Given the description of an element on the screen output the (x, y) to click on. 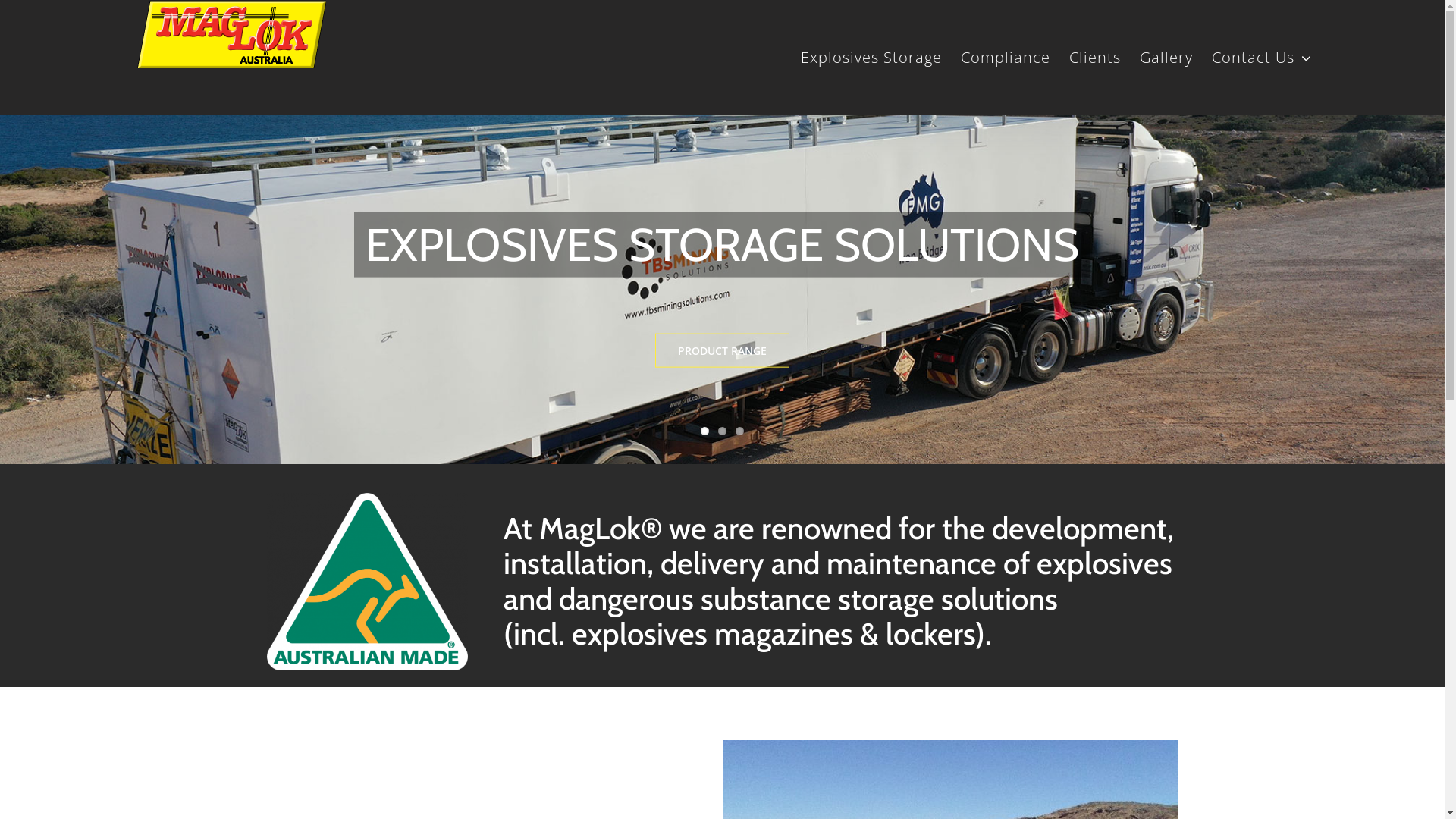
Gallery Element type: text (1165, 57)
Australian-Made-full-colour-logo Element type: hover (366, 581)
Contact Us Element type: text (1261, 57)
Compliance Element type: text (1005, 57)
Explosives Storage Element type: text (870, 57)
3 Element type: text (739, 430)
Clients Element type: text (1094, 57)
PRODUCT RANGE Element type: text (722, 349)
2 Element type: text (722, 430)
1 Element type: text (704, 430)
